Given the description of an element on the screen output the (x, y) to click on. 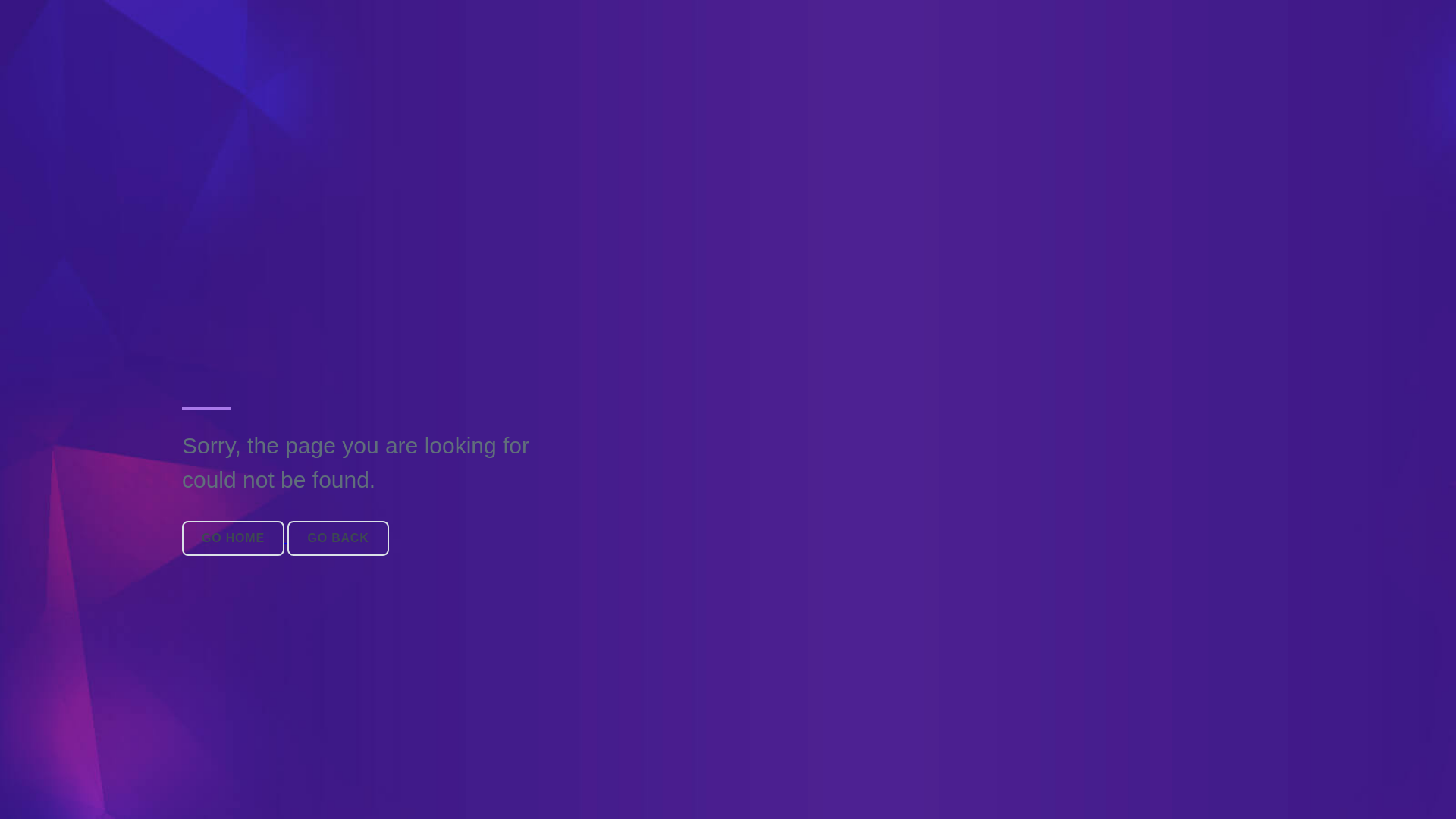
GO BACK Element type: text (337, 537)
GO BACK Element type: text (337, 537)
GO HOME Element type: text (234, 537)
GO HOME Element type: text (233, 537)
